Given the description of an element on the screen output the (x, y) to click on. 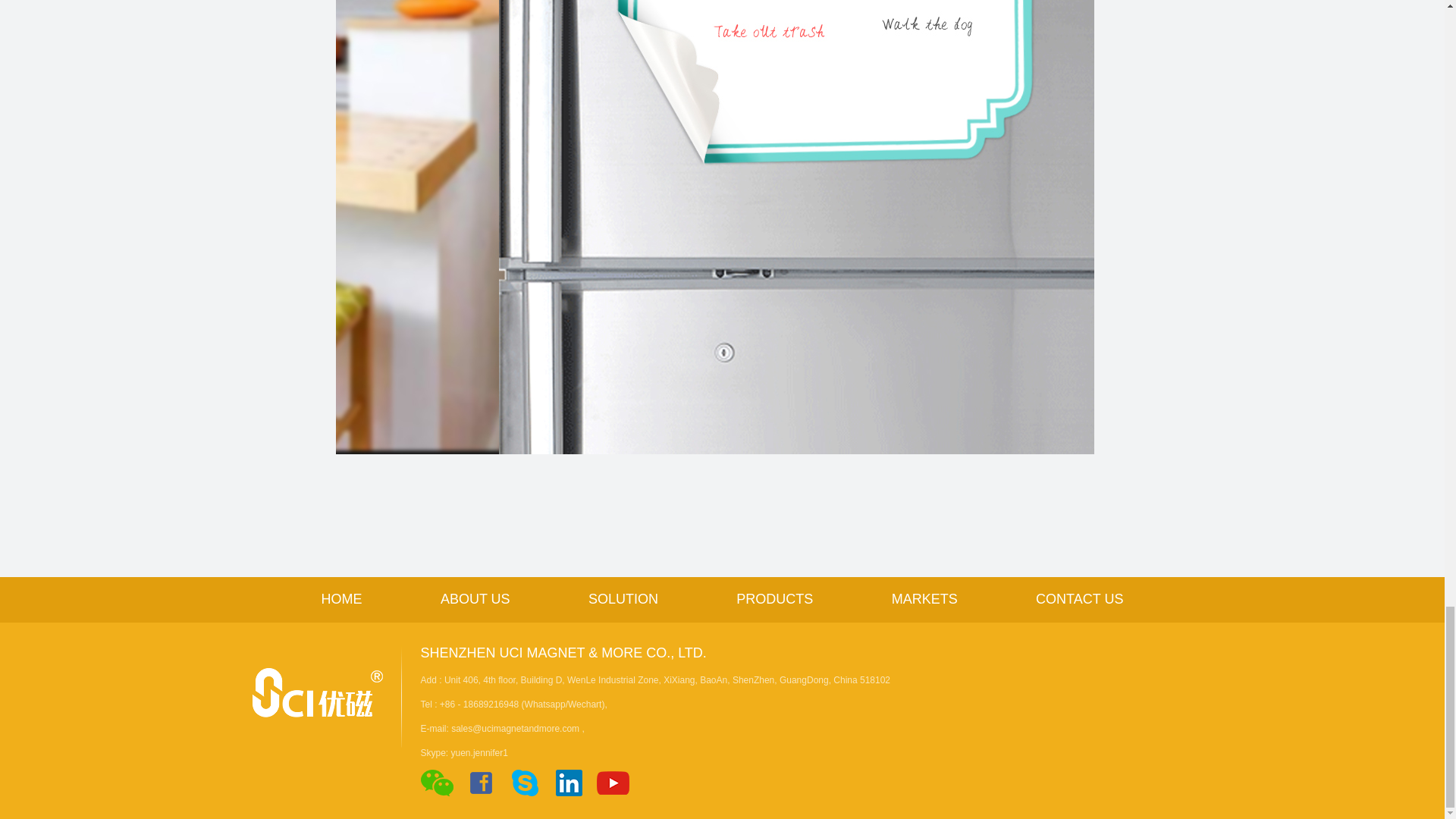
MARKETS (924, 599)
CONTACT US (1078, 599)
SOLUTION (622, 599)
ABOUT US (475, 599)
PRODUCTS (774, 599)
HOME (341, 599)
